Given the description of an element on the screen output the (x, y) to click on. 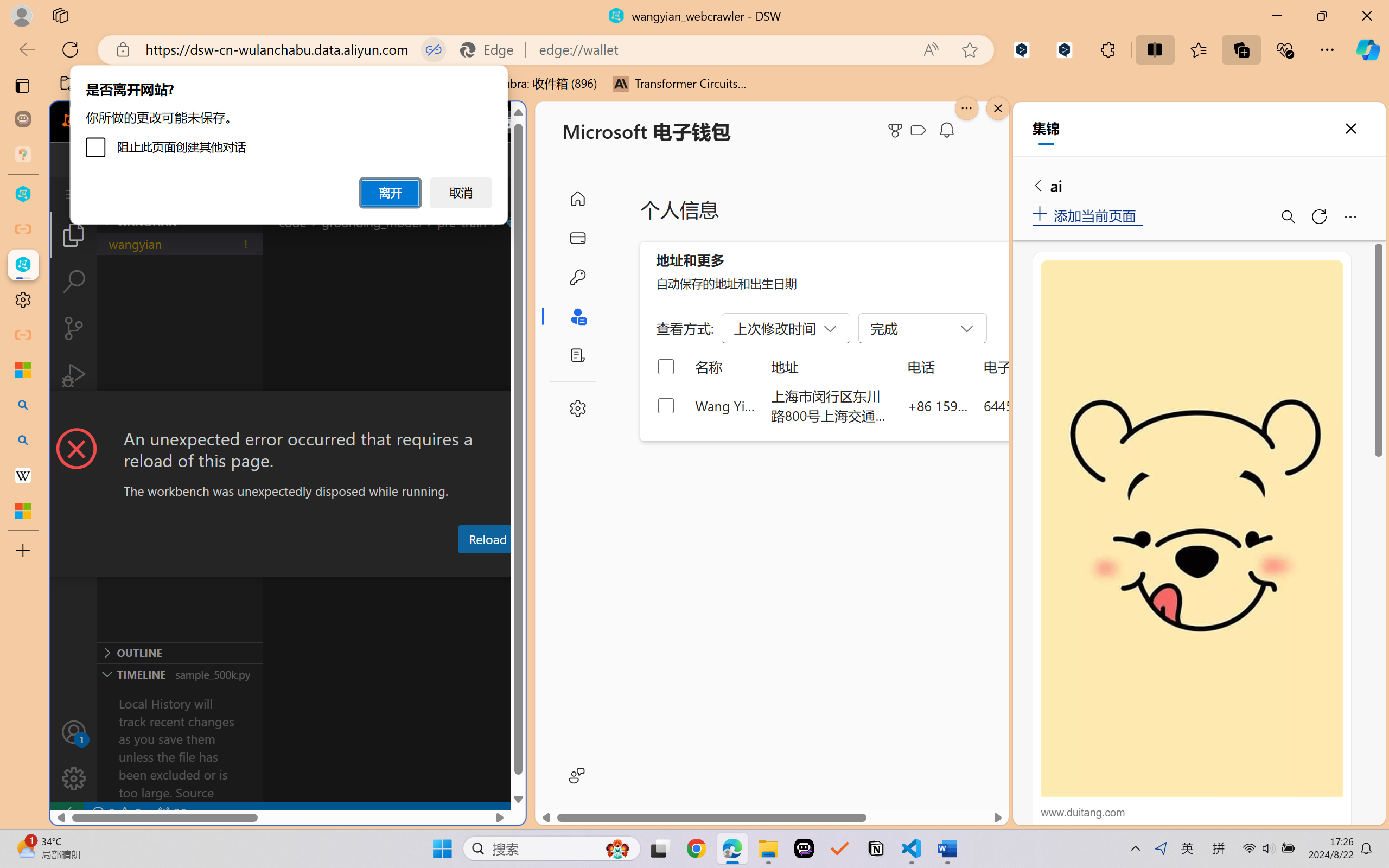
Transformer Circuits Thread (680, 83)
Wang Yian (725, 405)
Manage (73, 755)
